Given the description of an element on the screen output the (x, y) to click on. 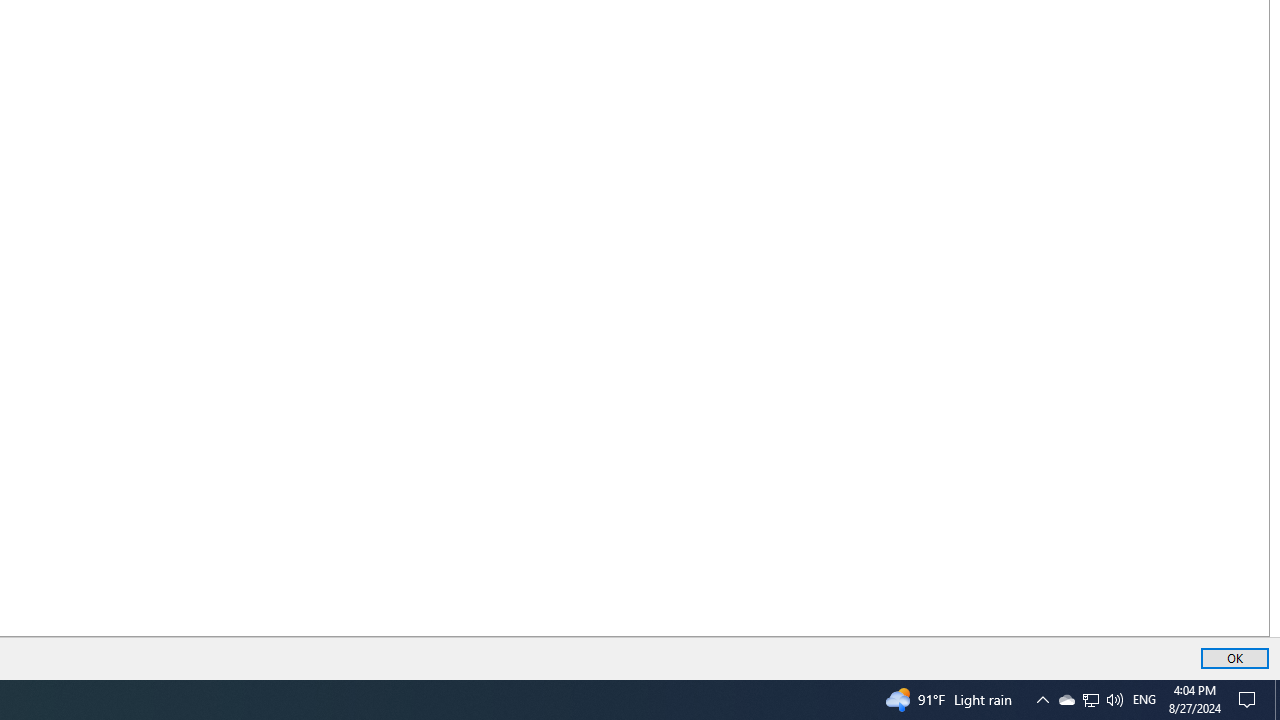
Tray Input Indicator - English (United States) (1144, 699)
OK (1234, 658)
